Given the description of an element on the screen output the (x, y) to click on. 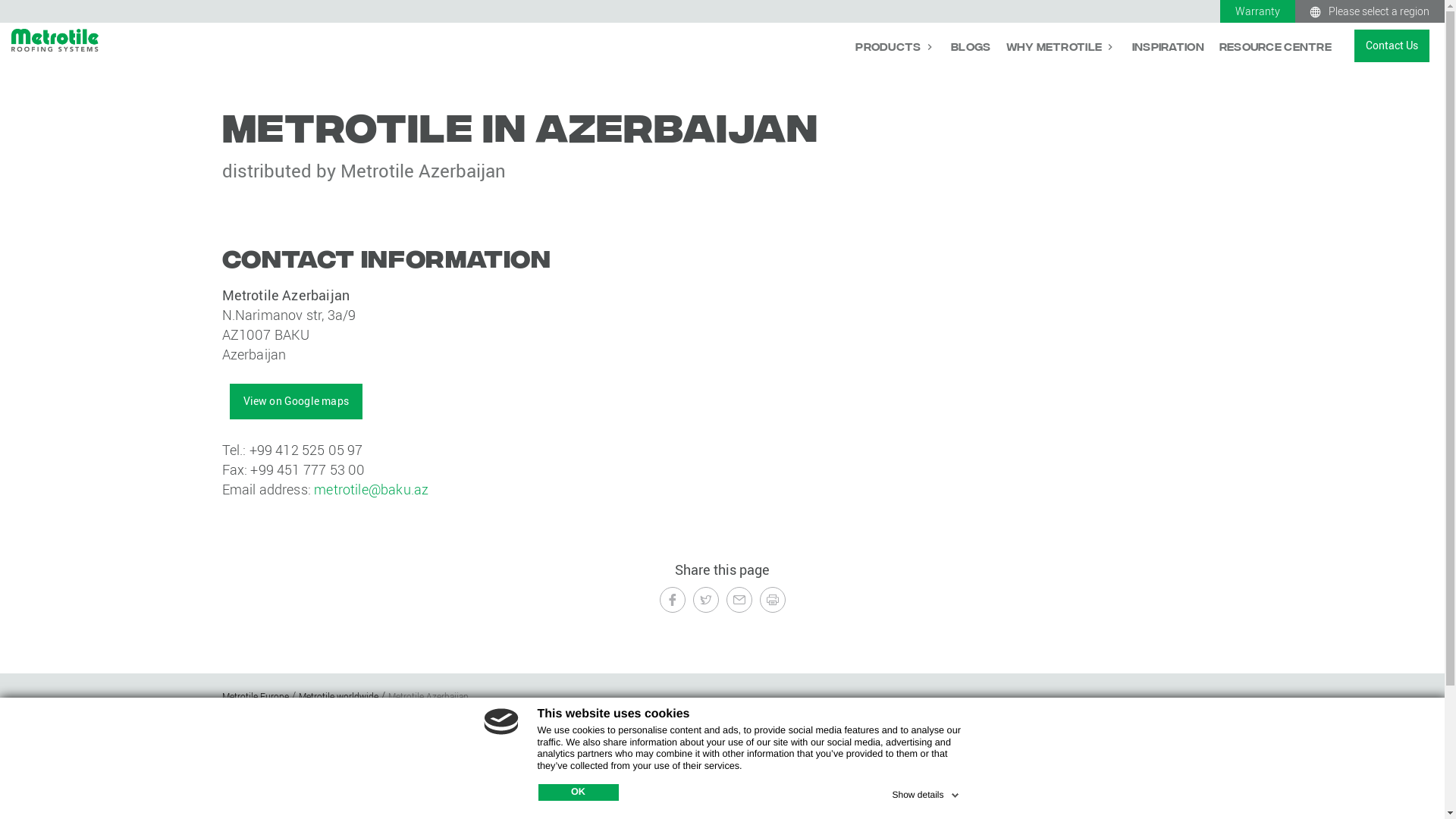
Send to a Friend Element type: hover (739, 599)
Metrotile Azerbaijan Element type: text (428, 696)
Metrotile Europe Element type: text (255, 696)
Print this page Element type: hover (772, 599)
Why Metrotile Element type: text (1060, 45)
Contact Us Element type: text (1391, 45)
View on Google maps Element type: text (295, 400)
Show details Element type: text (926, 792)
Warranty Element type: text (1257, 11)
Blogs Element type: text (970, 45)
Share on Facebook Element type: hover (672, 599)
Metrotile worldwide Element type: text (339, 696)
Inspiration Element type: text (1167, 45)
metrotile@baku.az Element type: text (370, 489)
Contact Us Element type: text (1081, 773)
Share on Twitter Element type: hover (705, 599)
Resource Centre Element type: text (1275, 45)
OK Element type: text (578, 792)
Products Element type: text (895, 45)
Please select a region Element type: text (1369, 11)
